Given the description of an element on the screen output the (x, y) to click on. 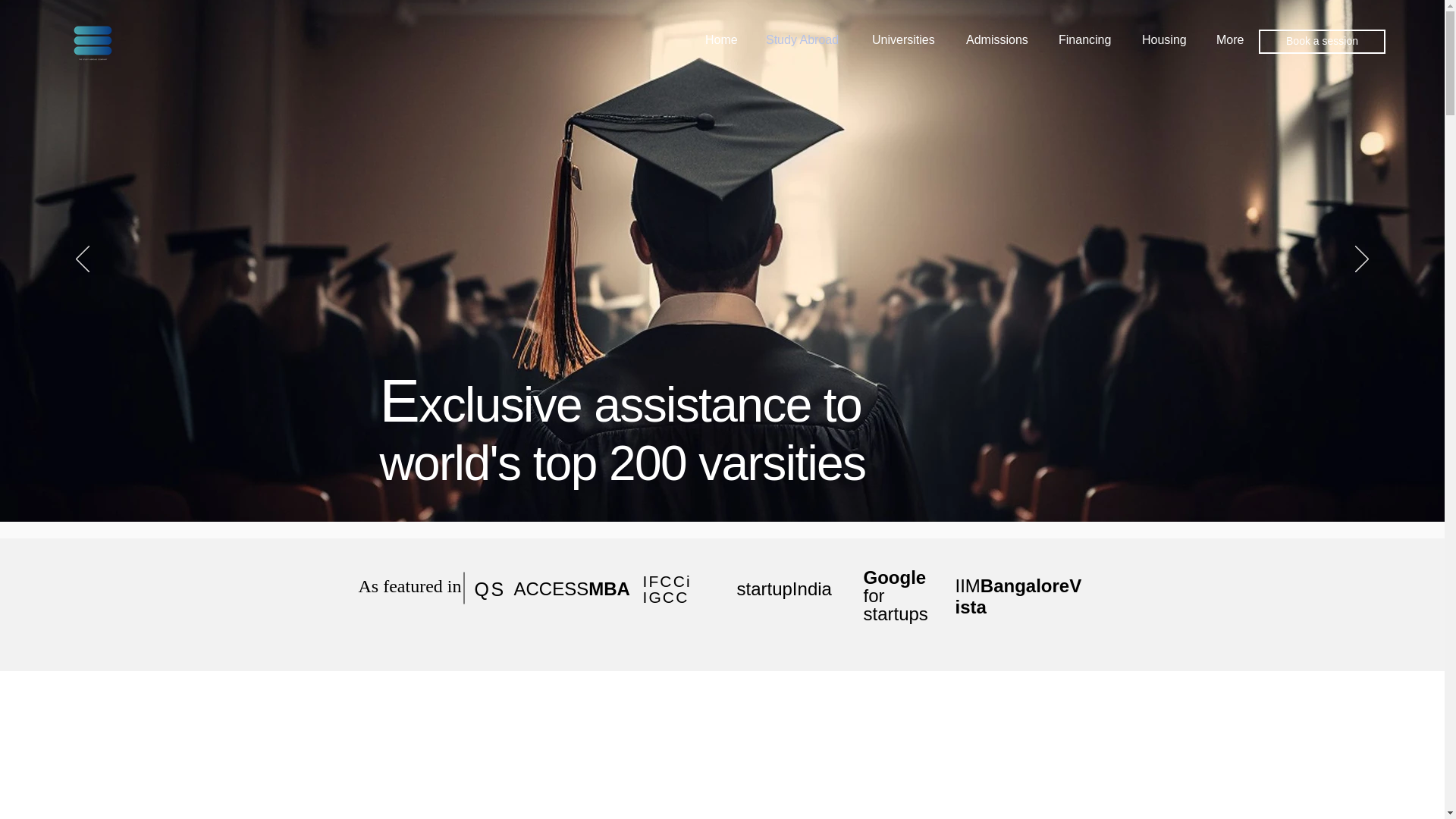
Housing (1168, 39)
Financing (1088, 39)
Study Abroad (807, 39)
Book a session (1322, 41)
Home (724, 39)
Admissions (1000, 39)
Universities (907, 39)
